Given the description of an element on the screen output the (x, y) to click on. 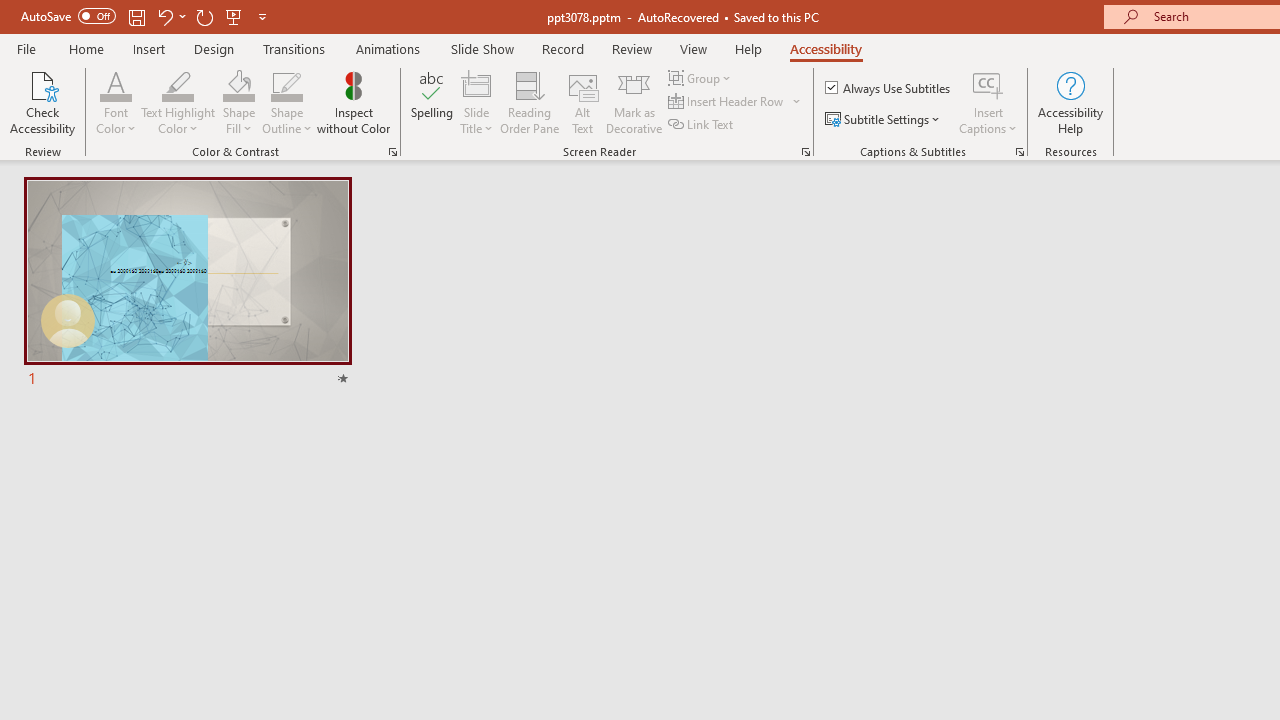
Captions & Subtitles (1019, 151)
Screen Reader (805, 151)
